Given the description of an element on the screen output the (x, y) to click on. 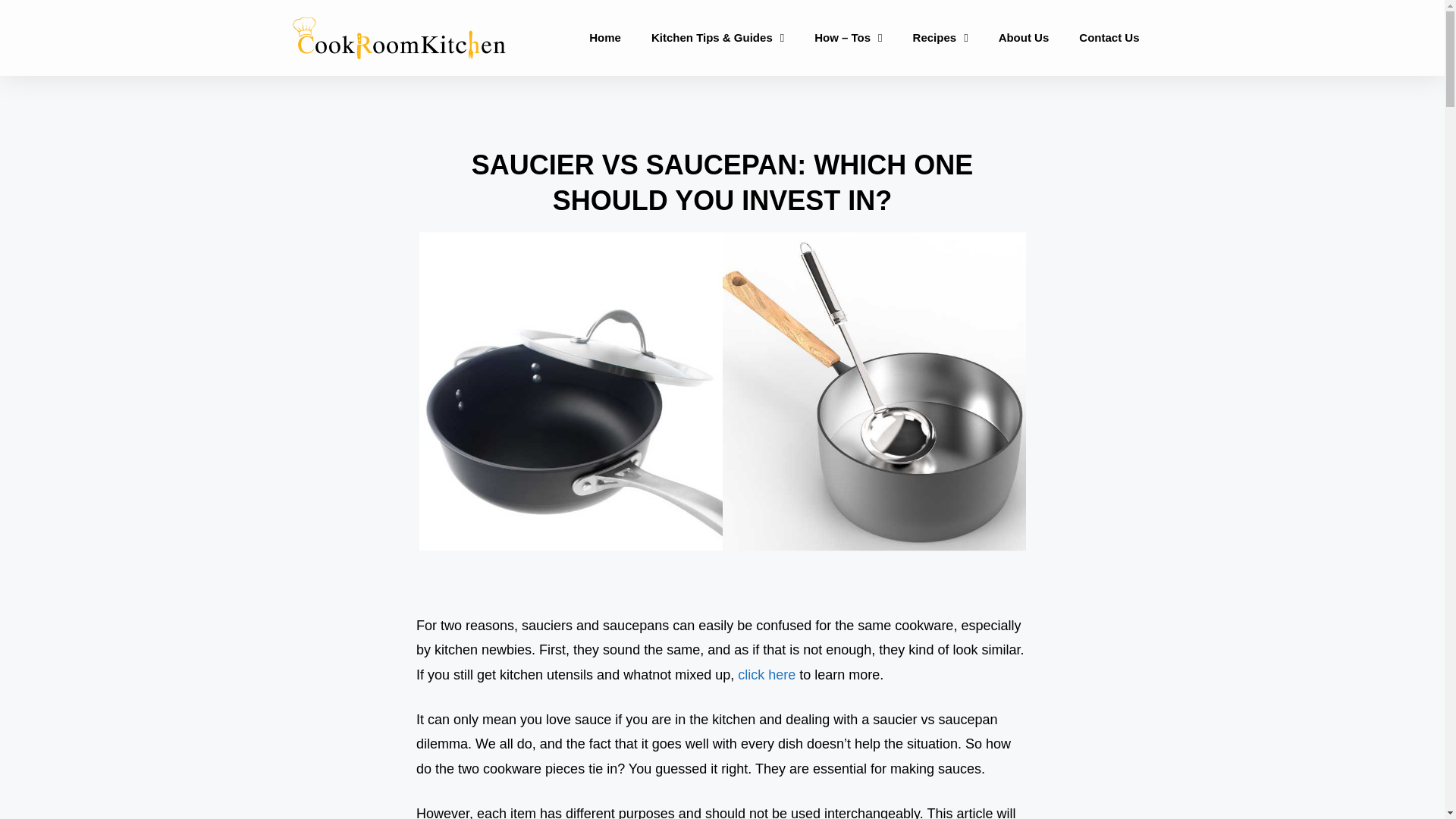
Recipes (941, 37)
Home (604, 37)
Contact Us (1109, 37)
About Us (1024, 37)
